Given the description of an element on the screen output the (x, y) to click on. 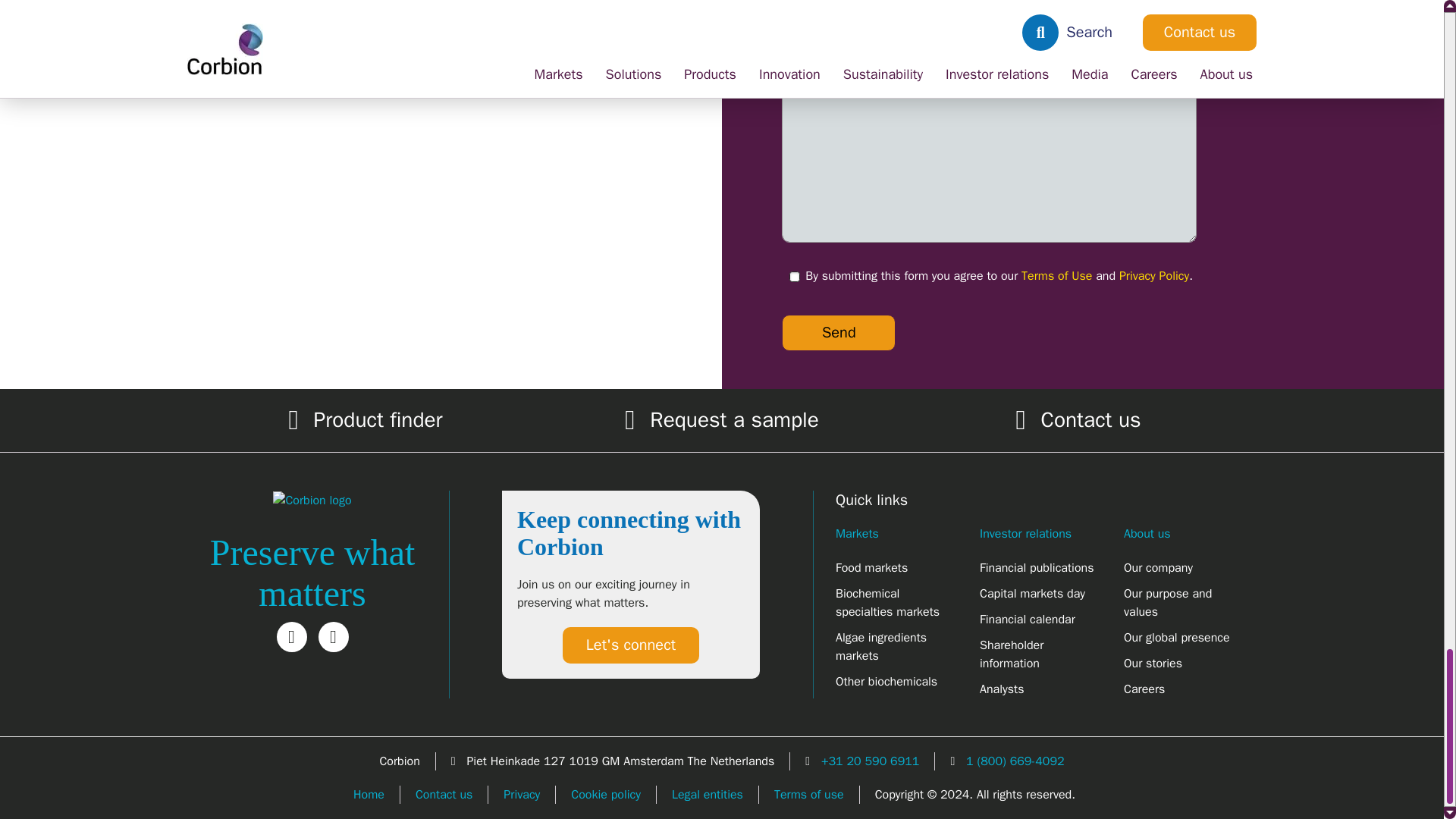
Send (838, 332)
true (794, 276)
YouTube Social Media Link (333, 636)
Company Phone Link (870, 761)
Company Phone Link (1015, 761)
LinkedIn Social Media Link (290, 636)
Corbion Alternative Text (311, 499)
